Given the description of an element on the screen output the (x, y) to click on. 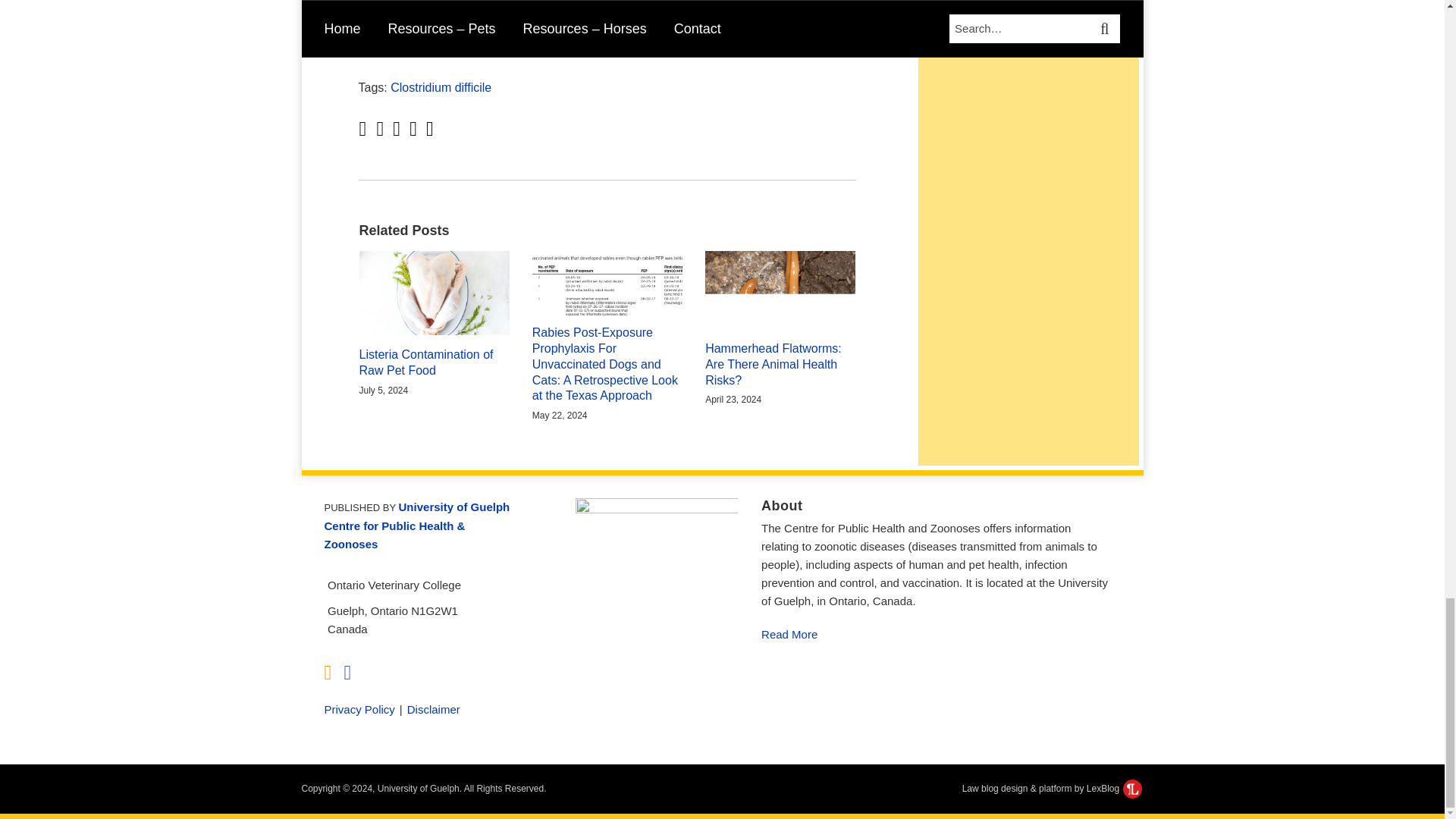
LexBlog Logo (1131, 788)
Listeria Contamination of Raw Pet Food (434, 363)
Clostridium difficile (441, 87)
Hammerhead Flatworms: Are There Animal Health Risks? (780, 364)
